Given the description of an element on the screen output the (x, y) to click on. 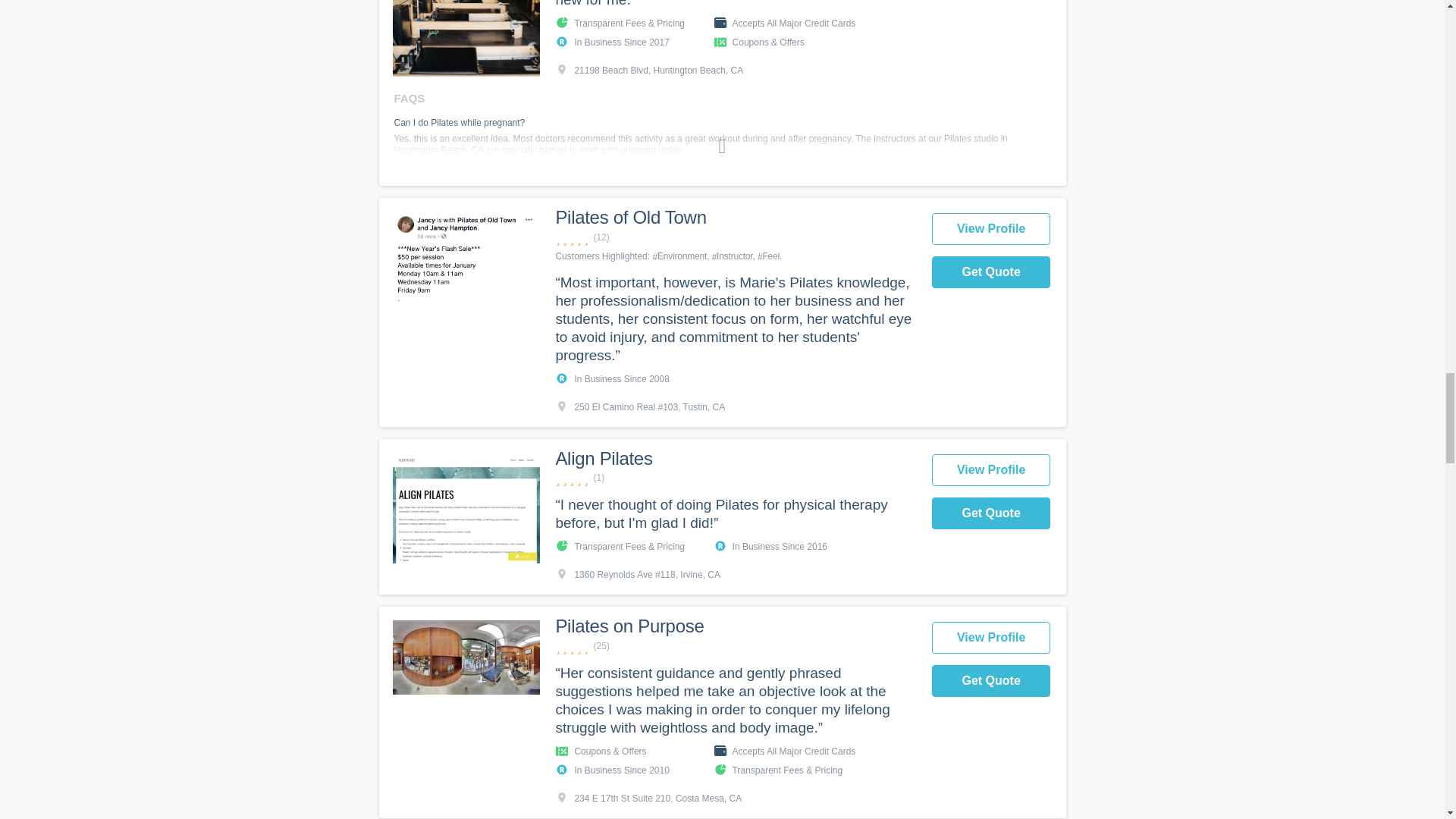
5.0 (734, 237)
4.9 (734, 646)
5.0 (734, 477)
